Given the description of an element on the screen output the (x, y) to click on. 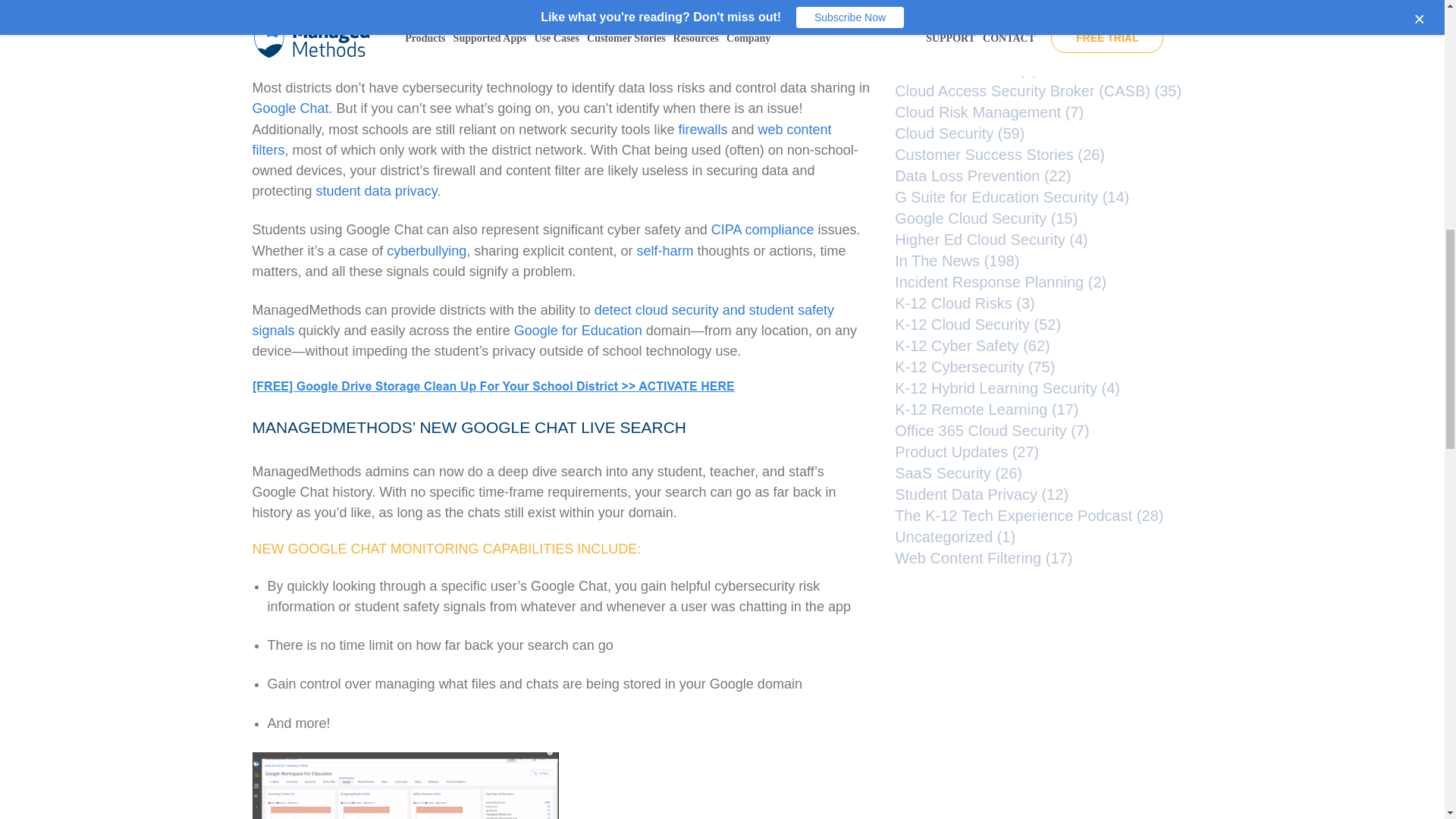
Google Chat (290, 108)
CIPA compliance (762, 229)
student data privacy (376, 191)
cyberbullying (426, 250)
web content filters (541, 140)
firewalls (702, 129)
